Given the description of an element on the screen output the (x, y) to click on. 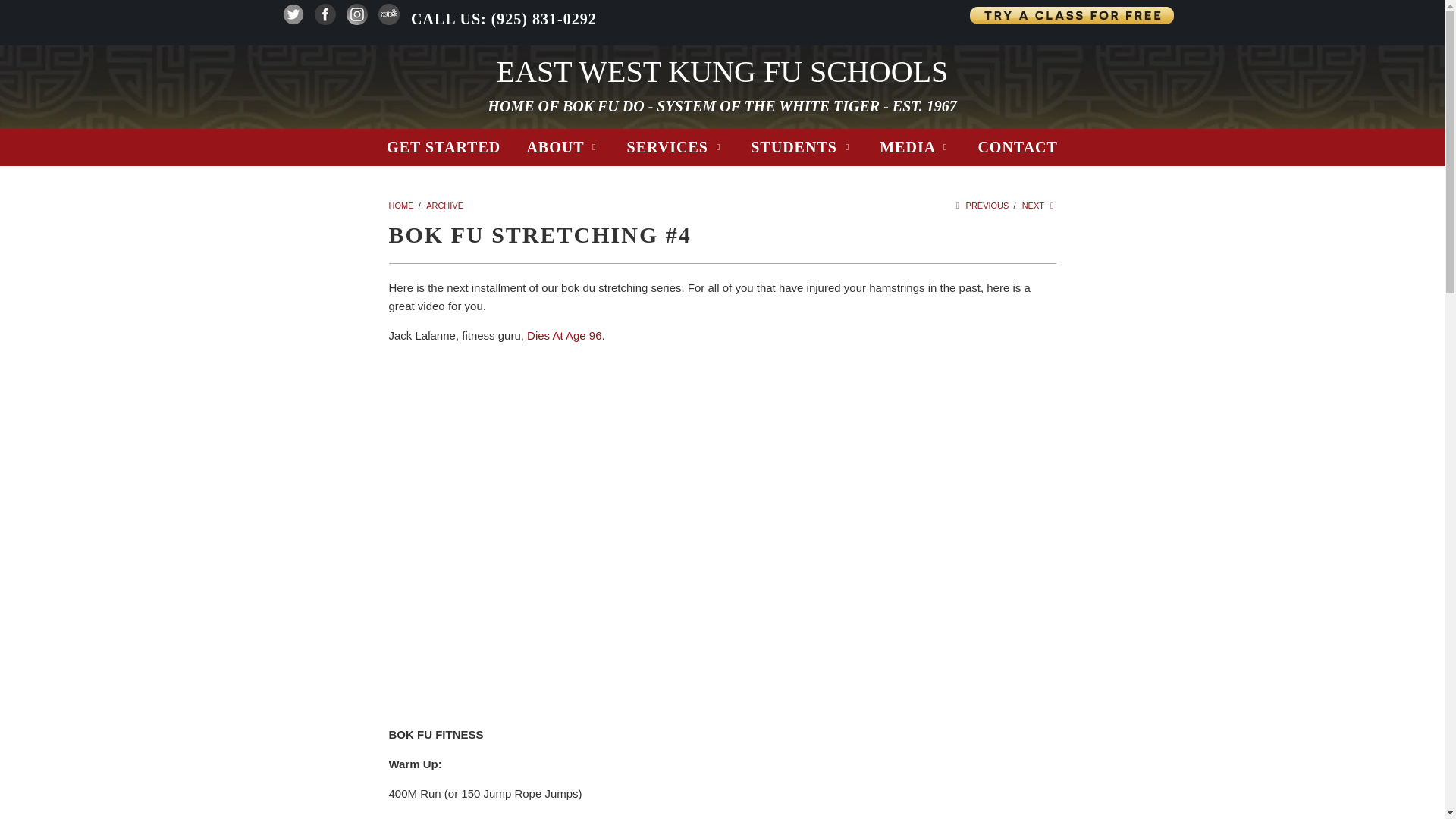
East West Kung Fu Schools on Yelp (388, 19)
East West Kung Fu Schools on Facebook (325, 19)
East West Kung Fu Schools on Twitter (292, 19)
East West Kung Fu Schools (721, 71)
East West Kung Fu Schools on Instagram (357, 19)
Archive (444, 204)
East West Kung Fu Schools (400, 204)
